Given the description of an element on the screen output the (x, y) to click on. 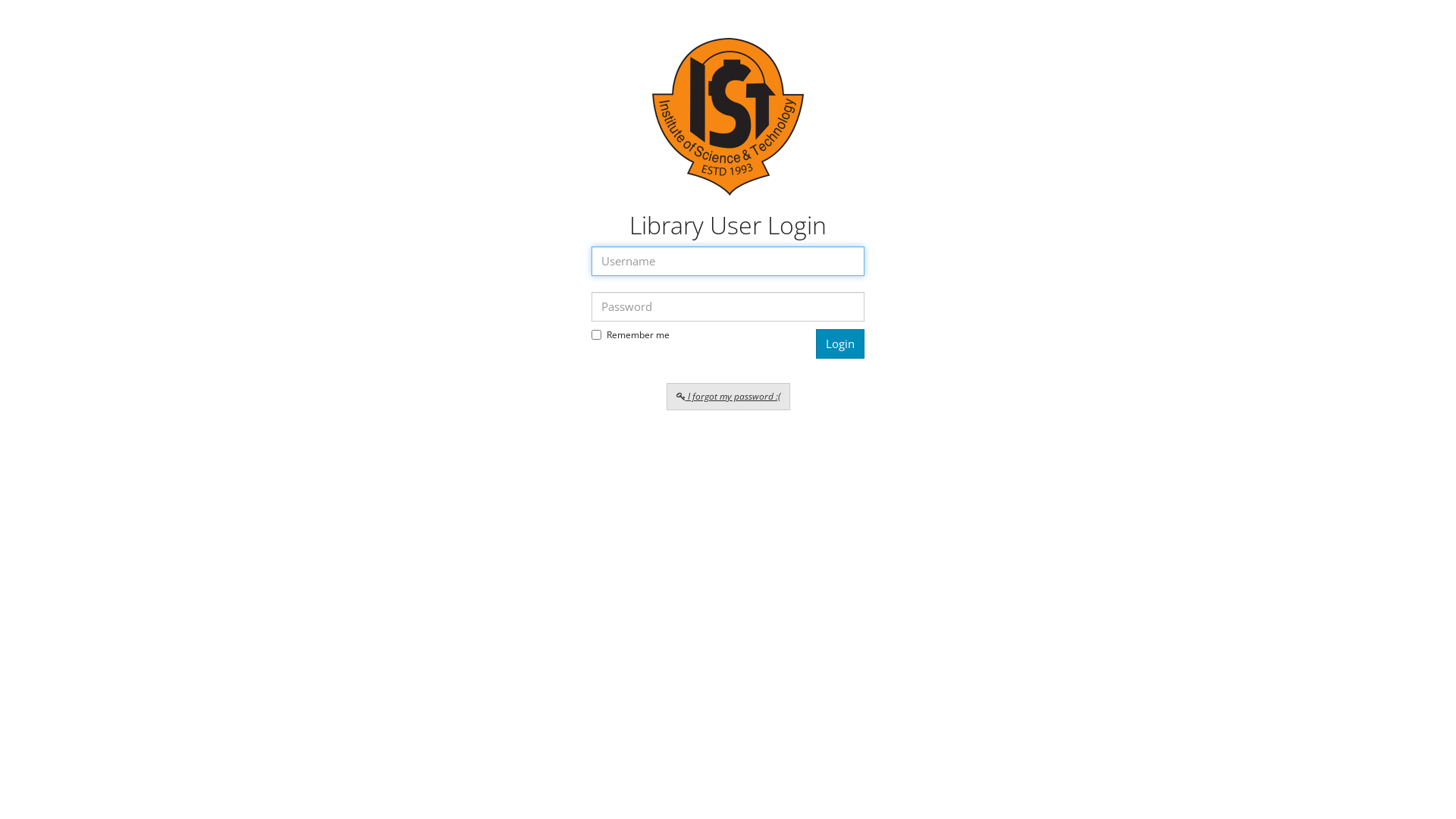
I forgot my password :( Element type: text (727, 396)
Login Element type: text (839, 343)
